Given the description of an element on the screen output the (x, y) to click on. 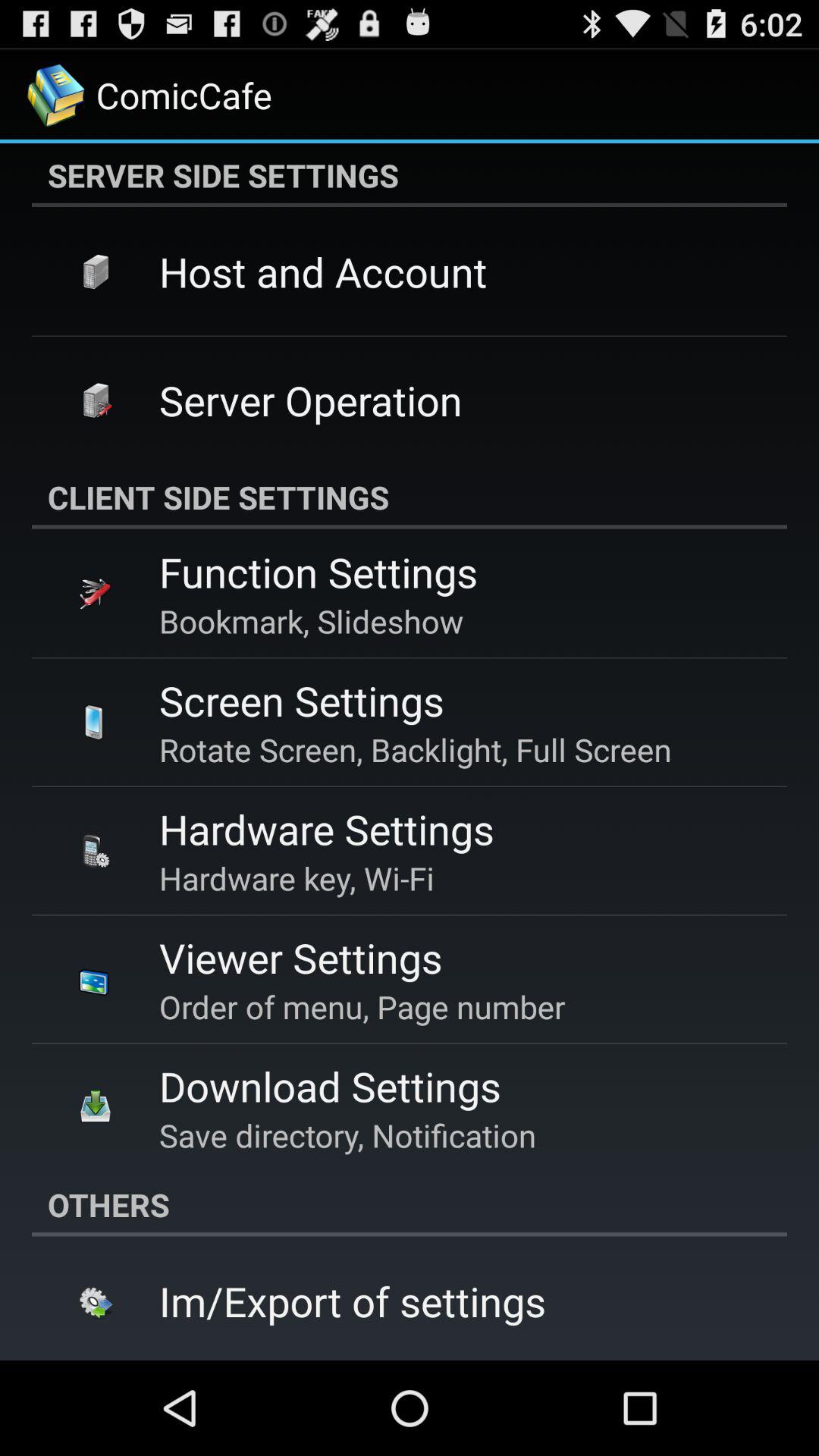
launch item above the others icon (347, 1134)
